Given the description of an element on the screen output the (x, y) to click on. 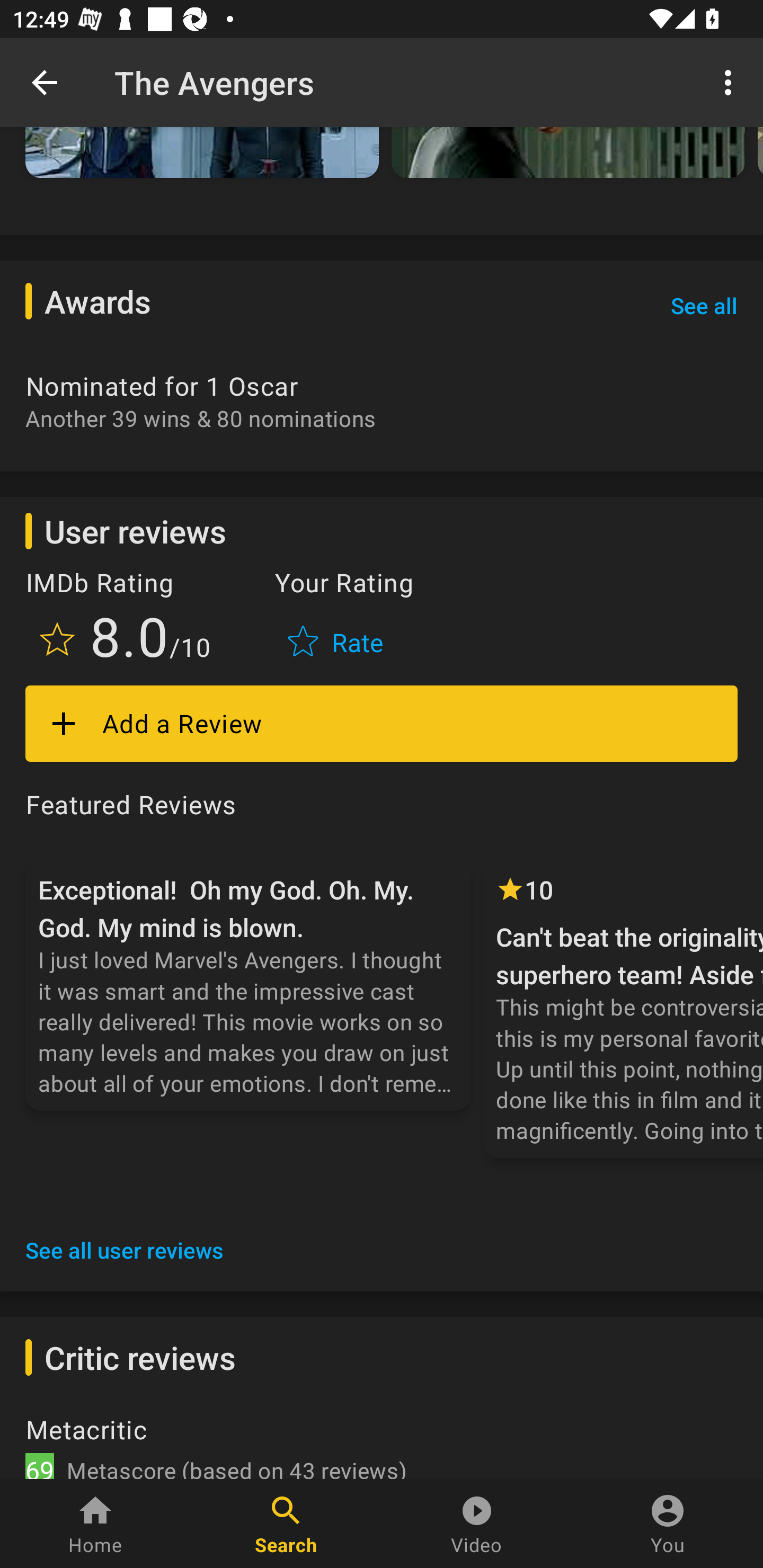
More options (731, 81)
See all See all Awards (703, 305)
Your Rating Rate (337, 618)
Add a Review (381, 723)
See all user reviews (124, 1250)
Metacritic 69 Metascore (based on 43 reviews) (381, 1445)
Home (95, 1523)
Video (476, 1523)
You (667, 1523)
